Given the description of an element on the screen output the (x, y) to click on. 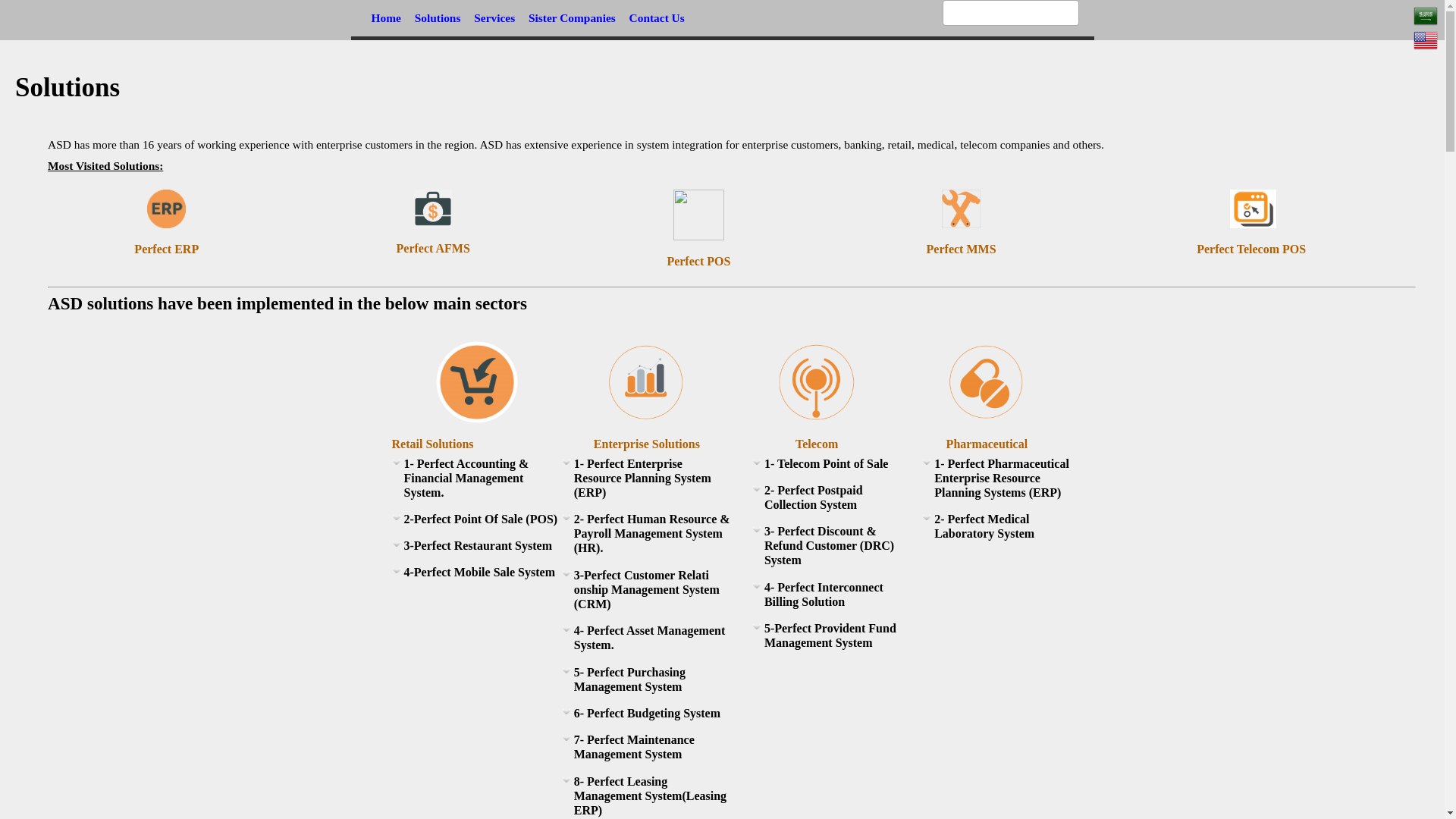
Search (35, 15)
Search for: (1010, 12)
4- Perfect Asset Management System. (647, 641)
Services (493, 18)
Contact Us (657, 18)
Solutions (437, 18)
Sister Companies (571, 18)
1- Telecom Point of Sale (826, 467)
3-Perfect Restaurant System (475, 549)
4-Perfect Mobile Sale System (475, 576)
Home (385, 18)
2- Perfect Postpaid Collection System (826, 501)
